Given the description of an element on the screen output the (x, y) to click on. 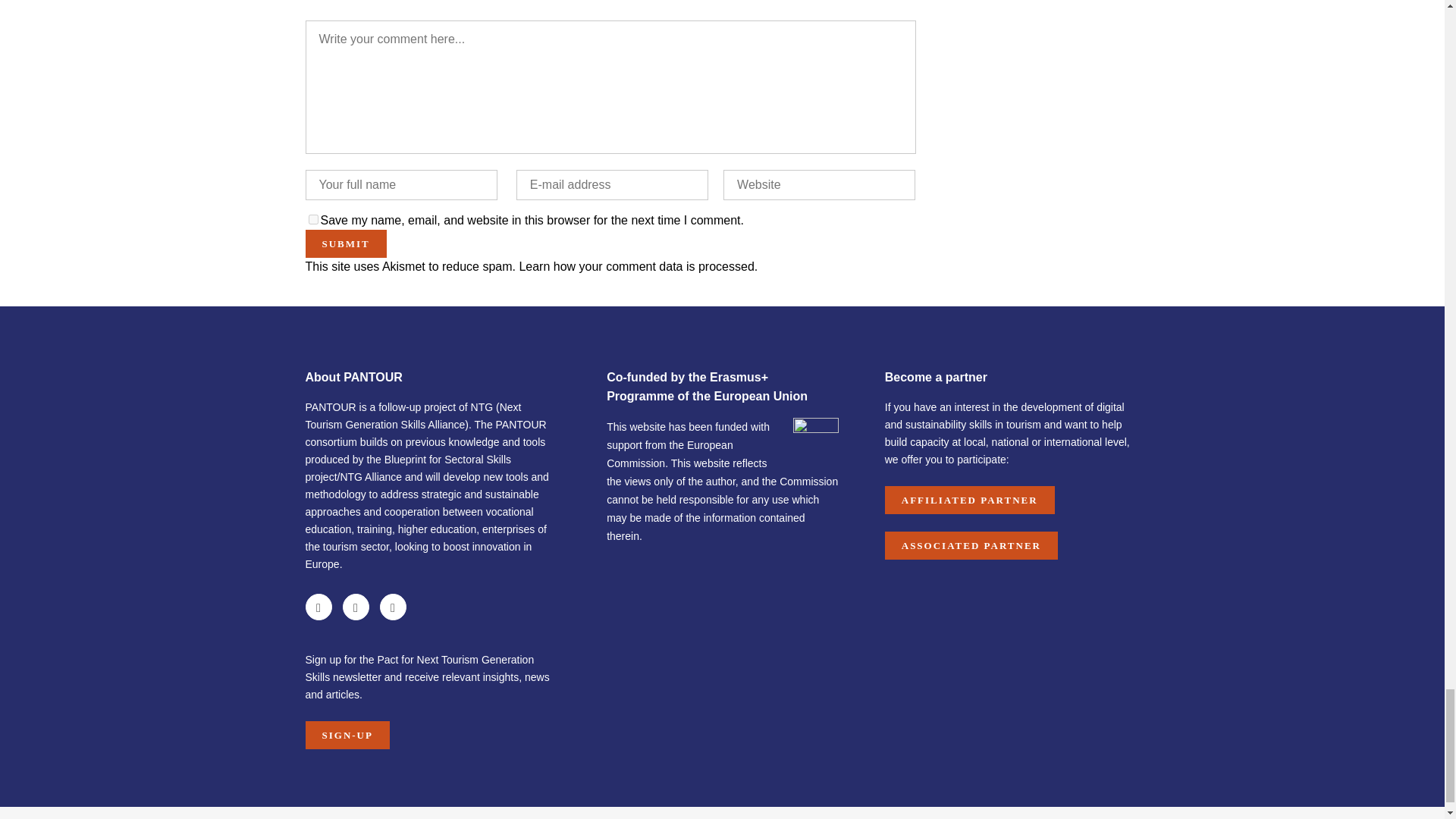
Submit (344, 243)
yes (312, 219)
